Given the description of an element on the screen output the (x, y) to click on. 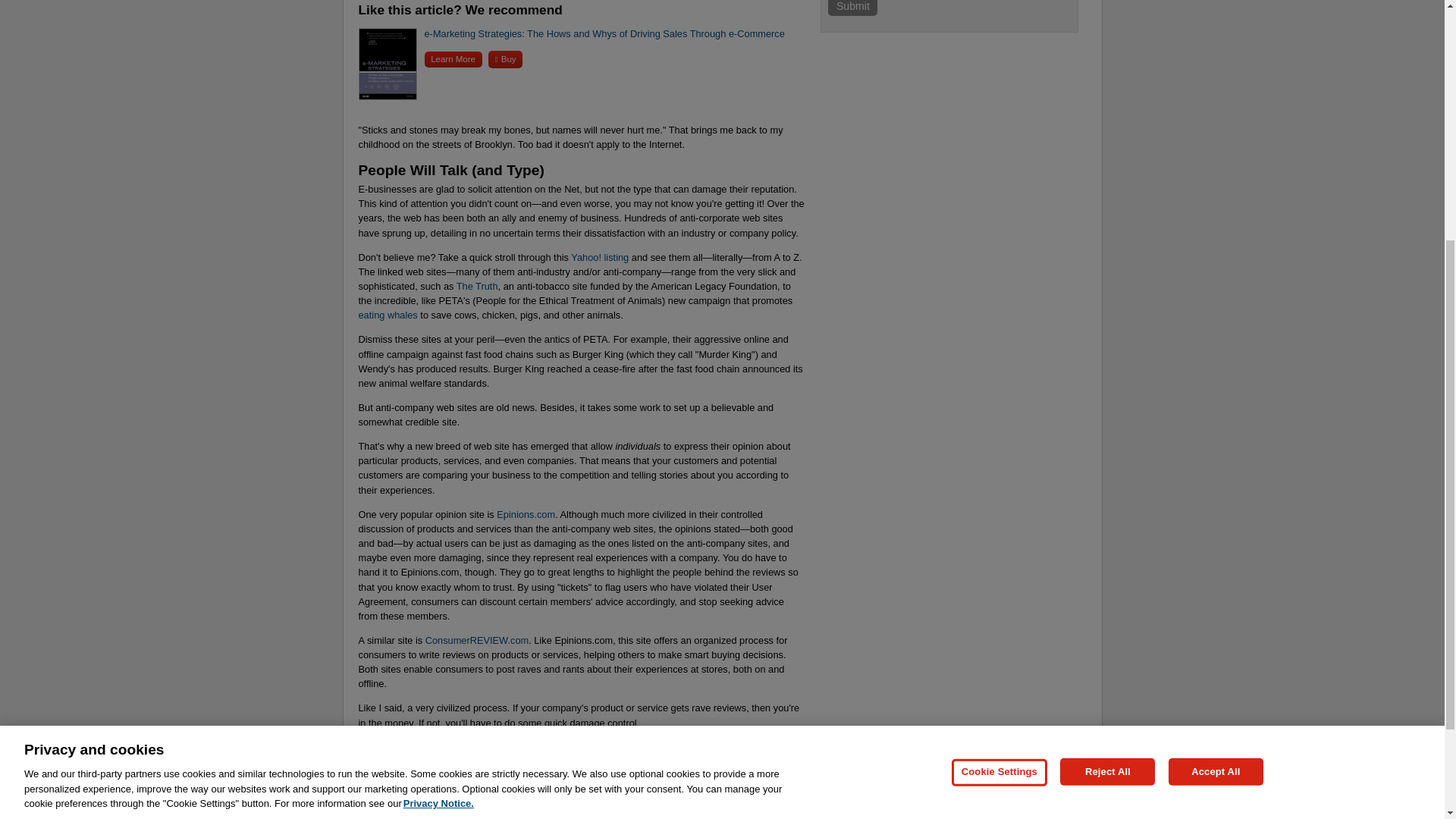
The Truth (477, 285)
eating whales (387, 315)
Yahoo! listing (599, 256)
Learn More (453, 59)
Epinions.com (525, 514)
ConsumerREVIEW.com (477, 640)
Submit (852, 7)
Submit (852, 7)
